Given the description of an element on the screen output the (x, y) to click on. 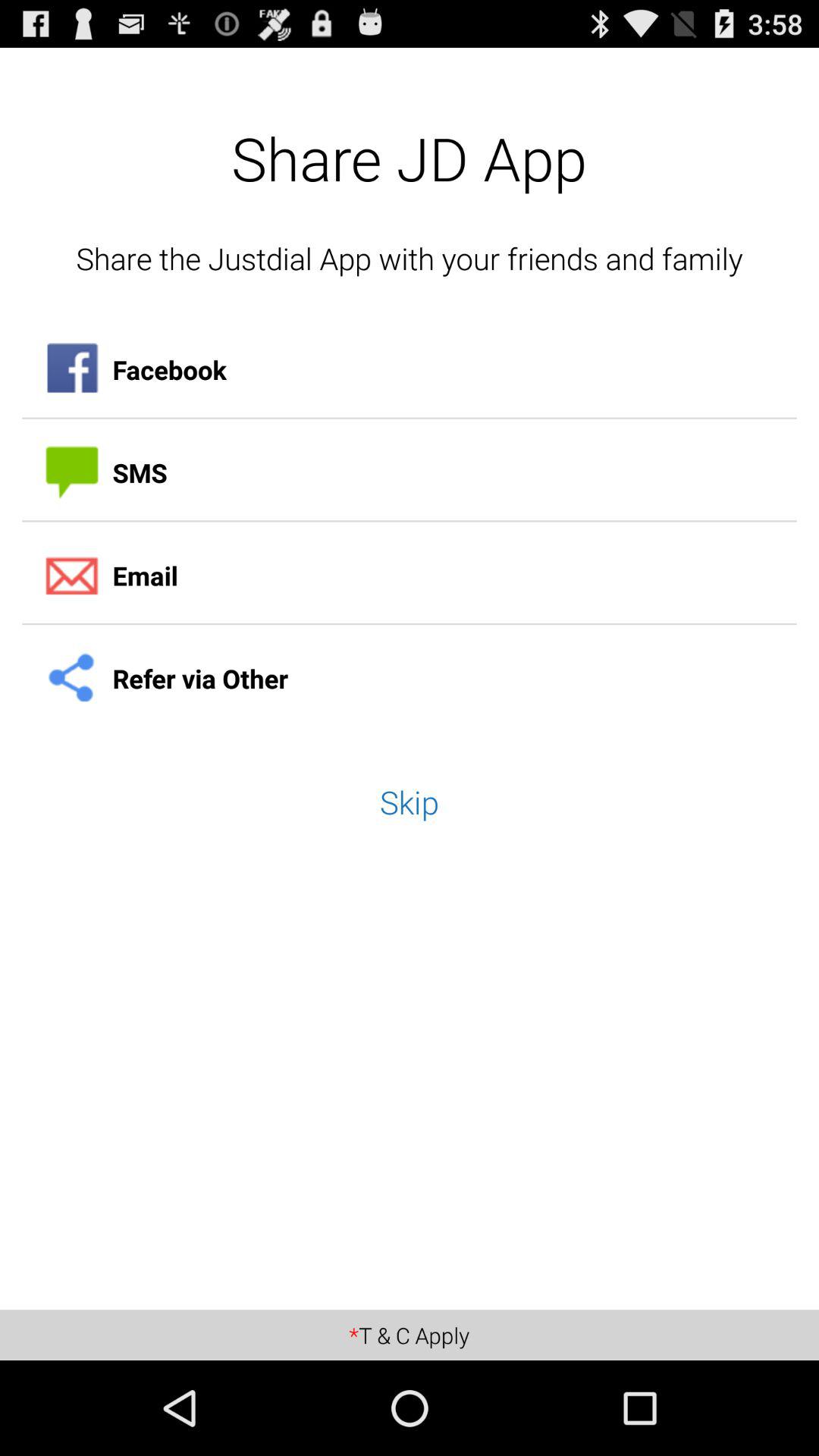
select item above the email icon (409, 472)
